Given the description of an element on the screen output the (x, y) to click on. 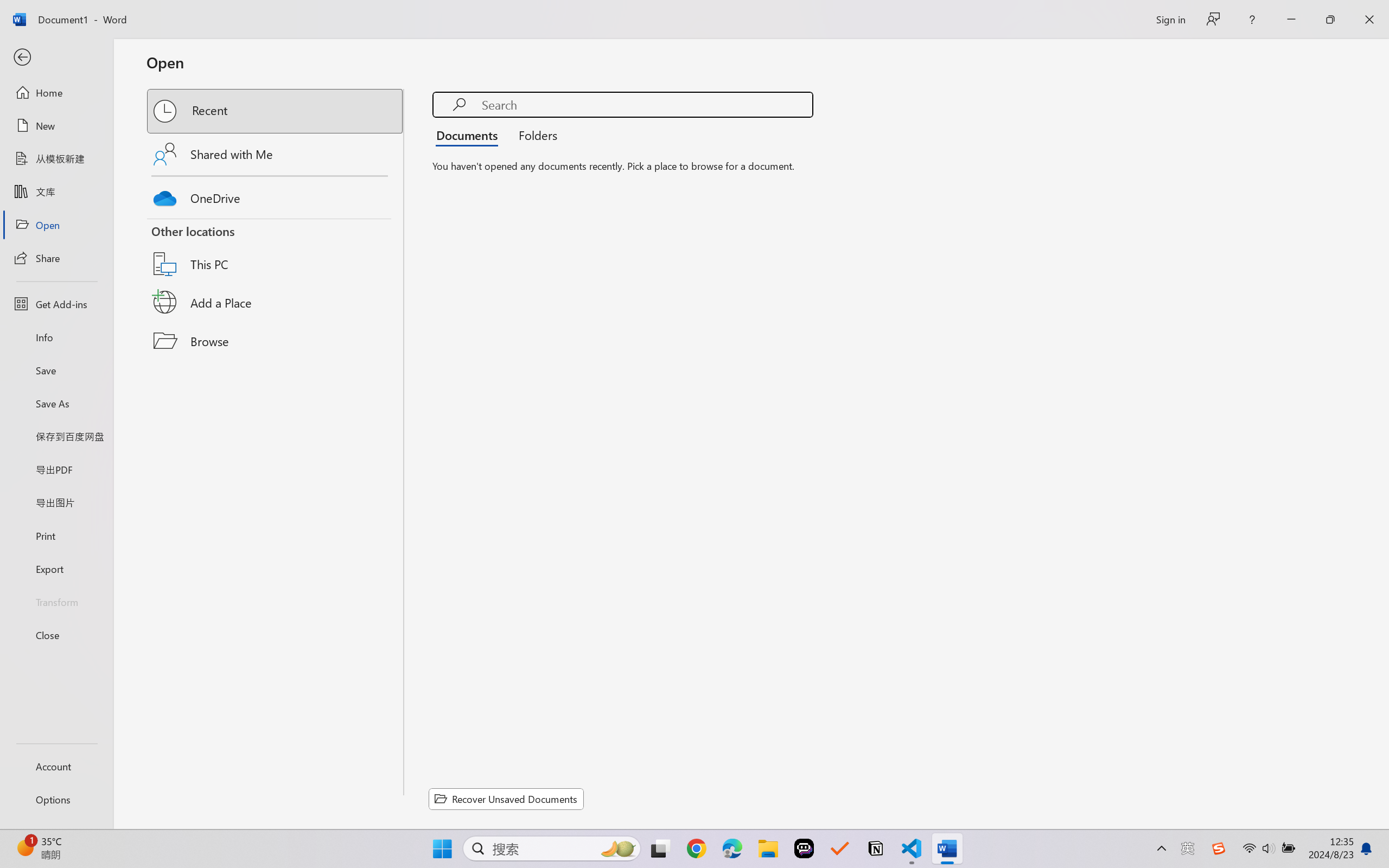
Browse (275, 340)
Print (56, 535)
Save As (56, 403)
Add a Place (275, 302)
This PC (275, 249)
Recover Unsaved Documents (506, 798)
